Given the description of an element on the screen output the (x, y) to click on. 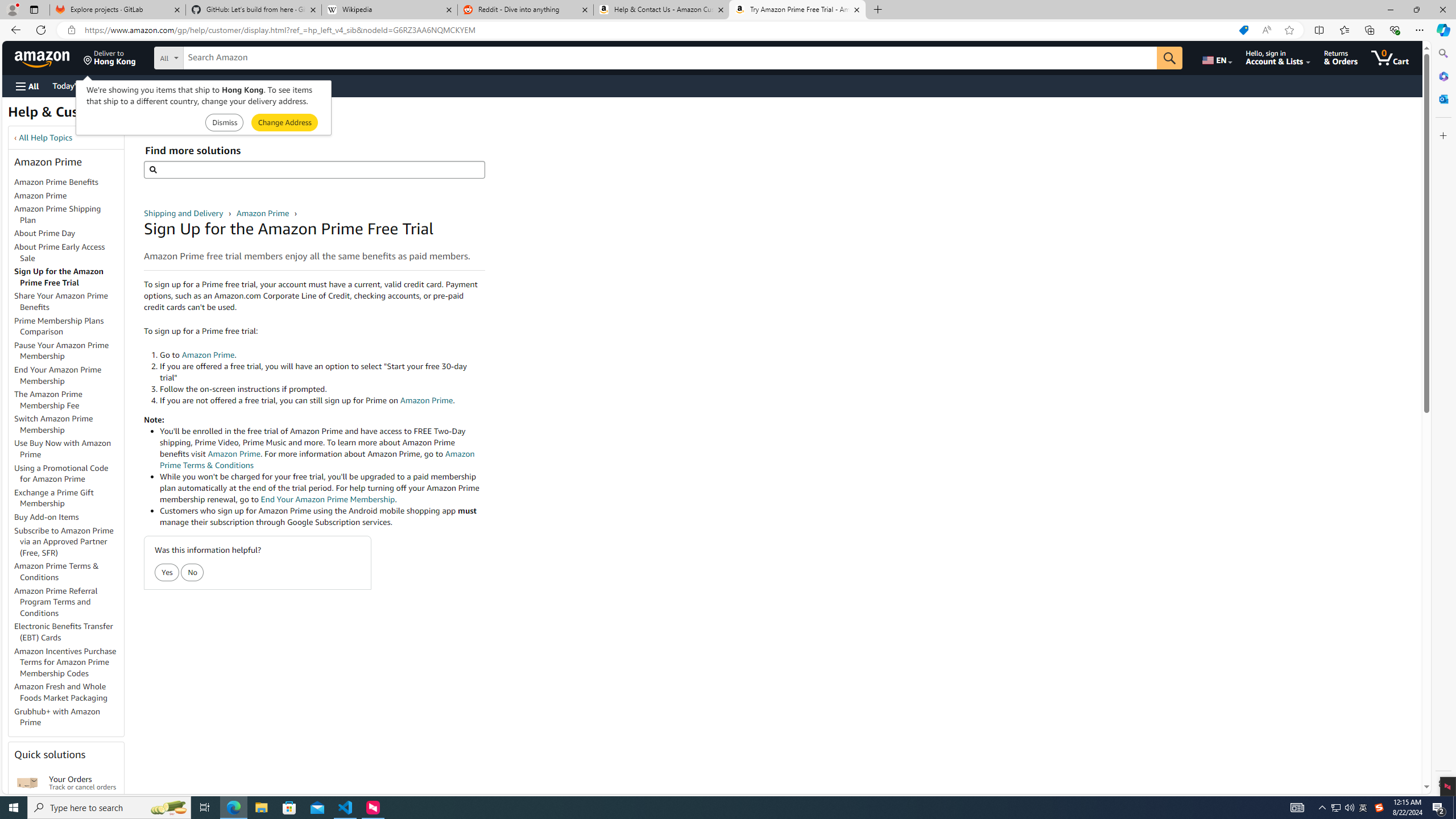
Find more solutions (314, 169)
Share Your Amazon Prime Benefits (61, 301)
Use Buy Now with Amazon Prime (68, 449)
Search in (210, 56)
Grubhub+ with Amazon Prime (57, 716)
Gift Cards (251, 85)
Amazon Prime Benefits (56, 181)
